Given the description of an element on the screen output the (x, y) to click on. 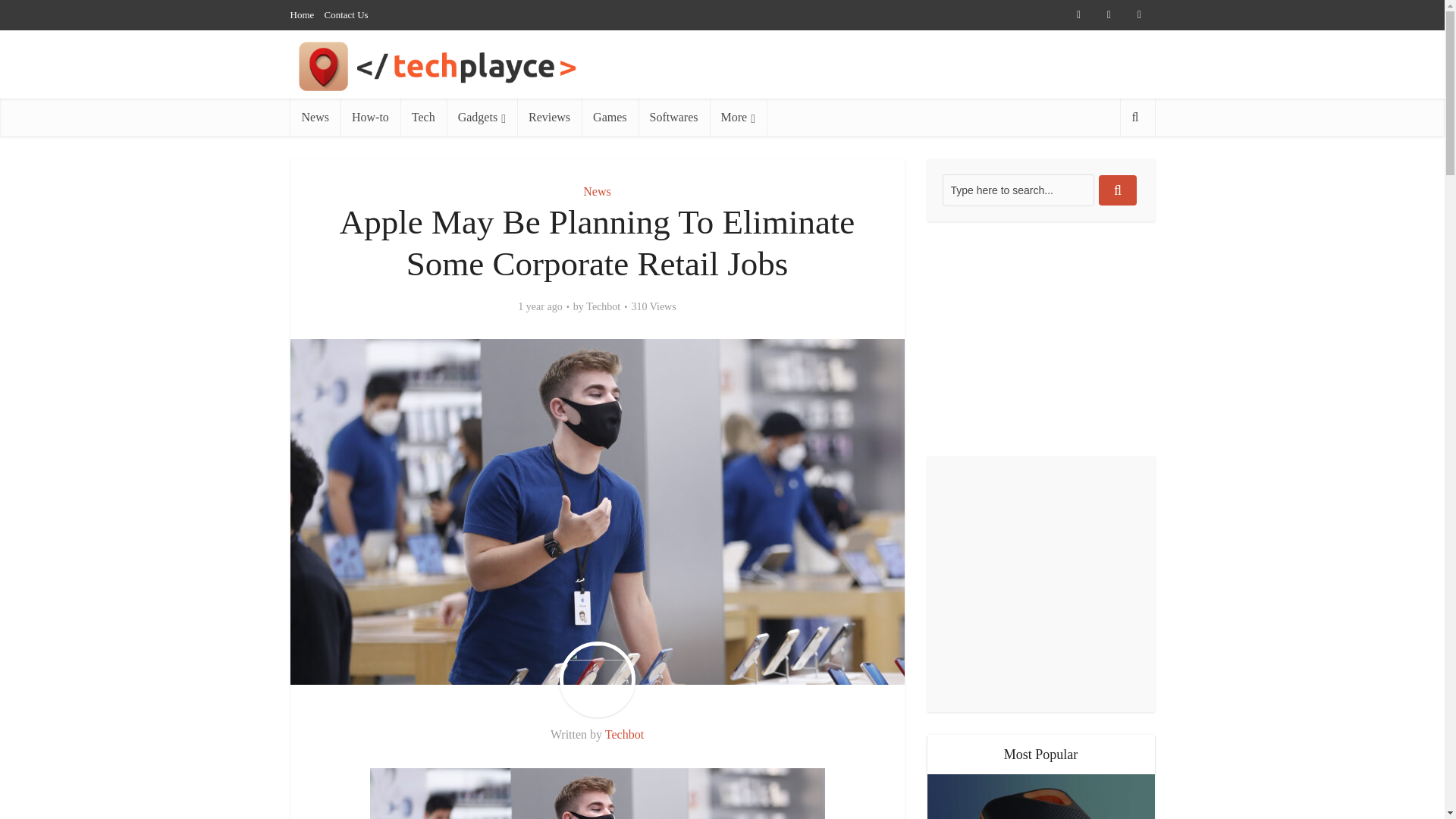
News (314, 117)
Techplayce (495, 65)
Techbot (603, 306)
Gadgets (481, 117)
Type here to search... (1017, 190)
Type here to search... (1017, 190)
Techbot (624, 734)
Tech (423, 117)
Contact Us (346, 14)
Advertisement (1040, 339)
Softwares (674, 117)
More (738, 117)
News (596, 191)
